Given the description of an element on the screen output the (x, y) to click on. 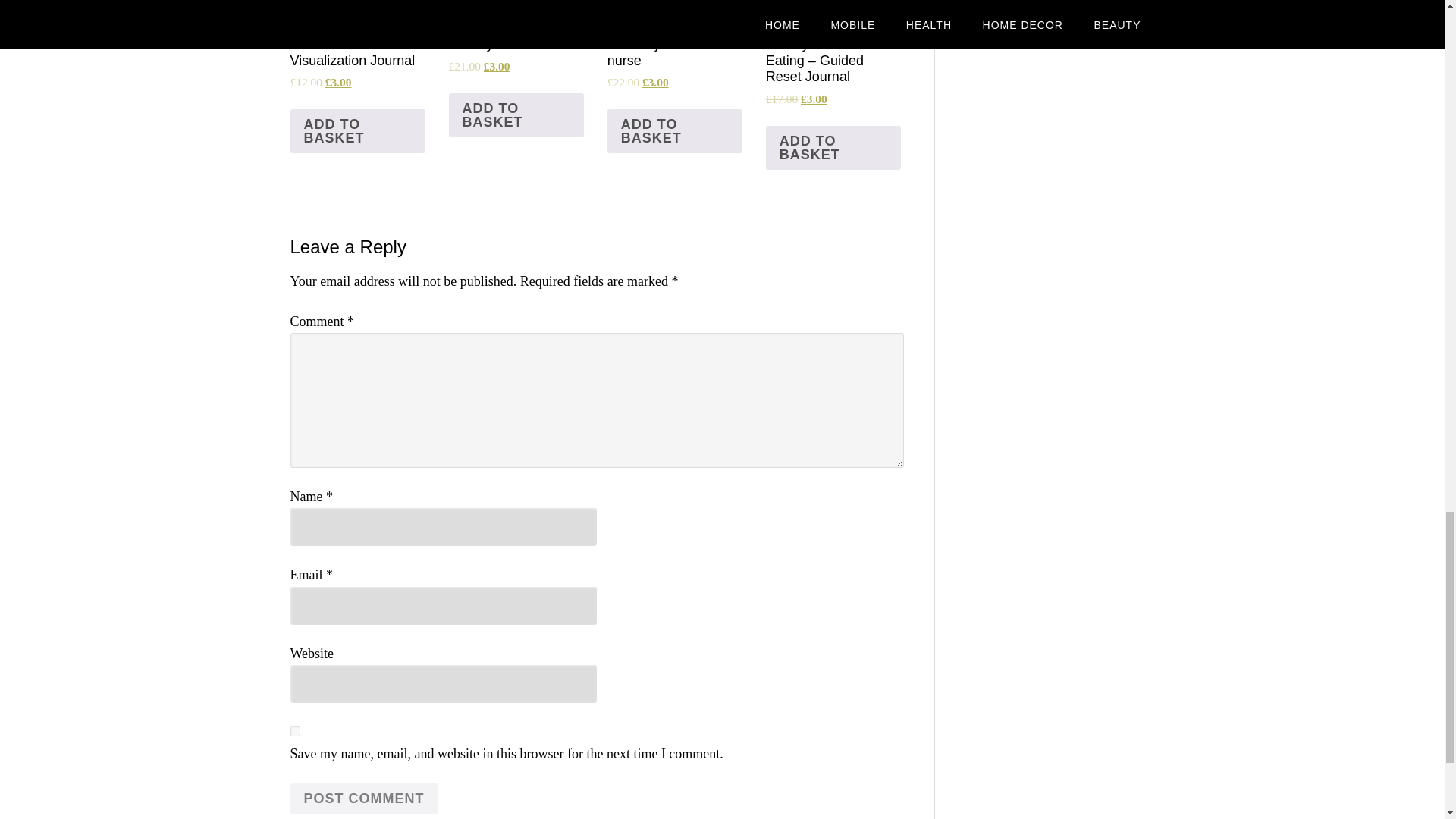
ADD TO BASKET (515, 115)
Post Comment (363, 798)
yes (294, 731)
ADD TO BASKET (357, 130)
ADD TO BASKET (833, 147)
Post Comment (363, 798)
ADD TO BASKET (674, 130)
